Given the description of an element on the screen output the (x, y) to click on. 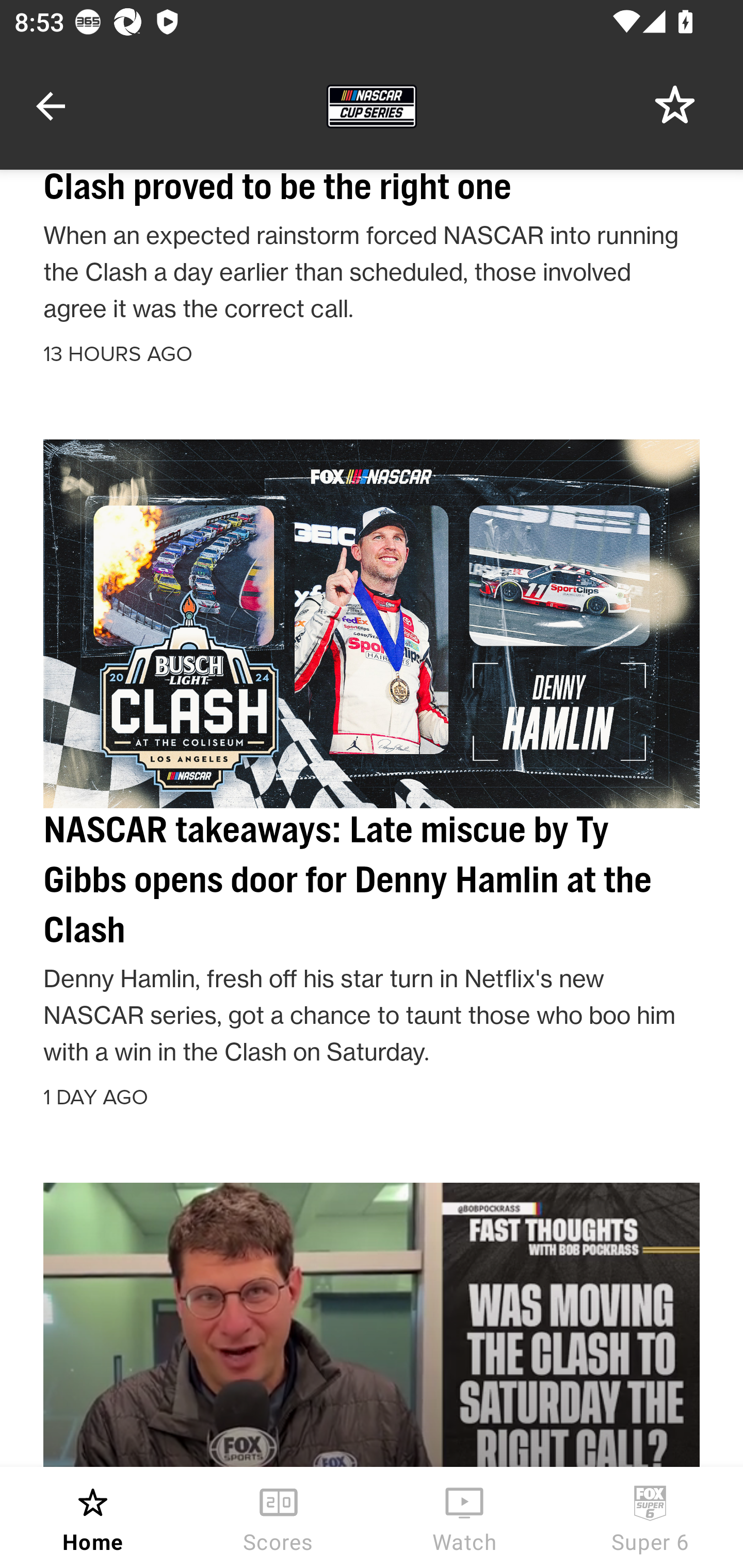
Navigate up (50, 106)
Scores (278, 1517)
Watch (464, 1517)
Super 6 (650, 1517)
